Given the description of an element on the screen output the (x, y) to click on. 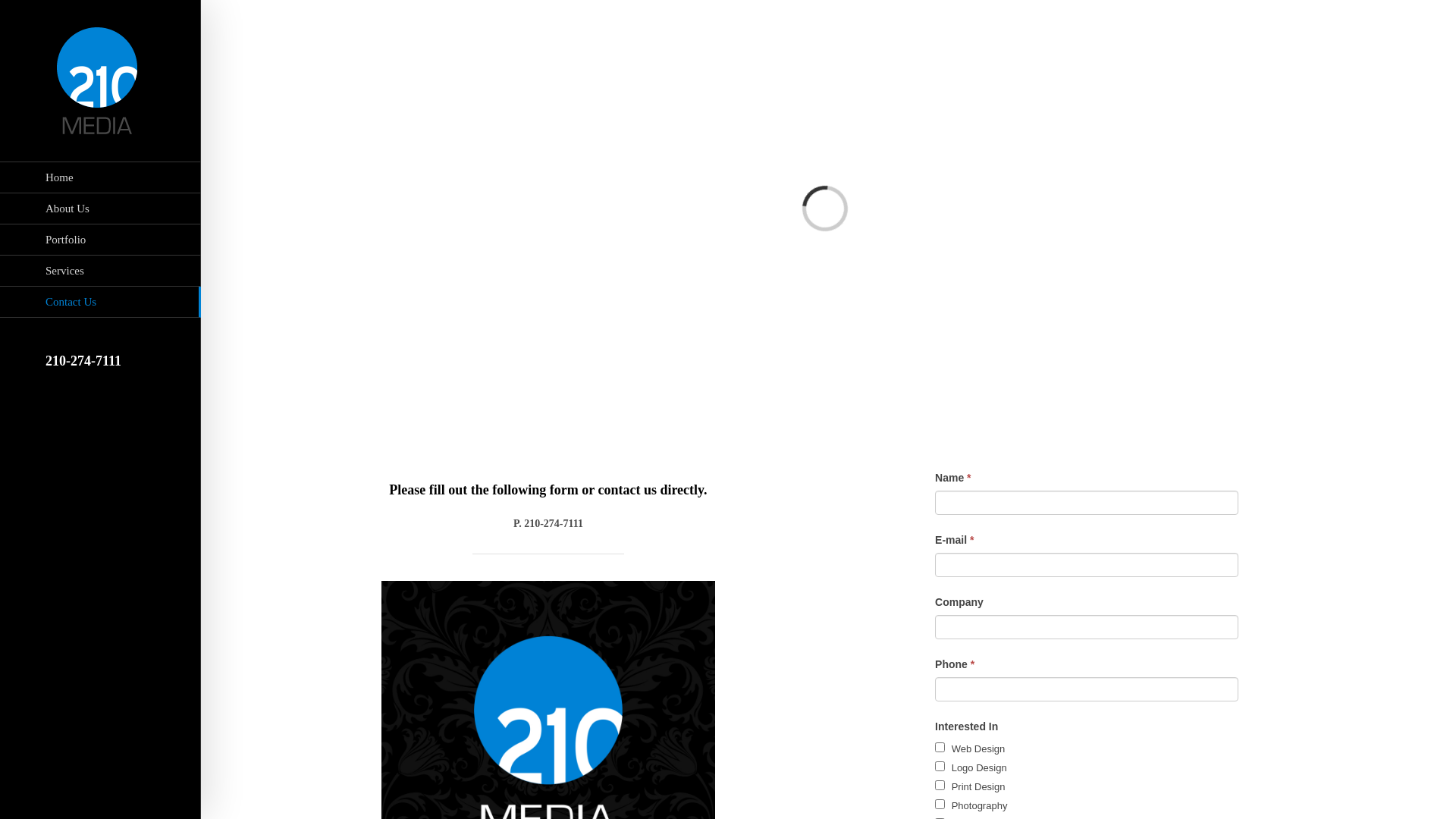
Services Element type: text (100, 270)
Contact Us Element type: text (100, 301)
Portfolio Element type: text (100, 239)
About Us Element type: text (100, 208)
Home Element type: text (100, 177)
